Given the description of an element on the screen output the (x, y) to click on. 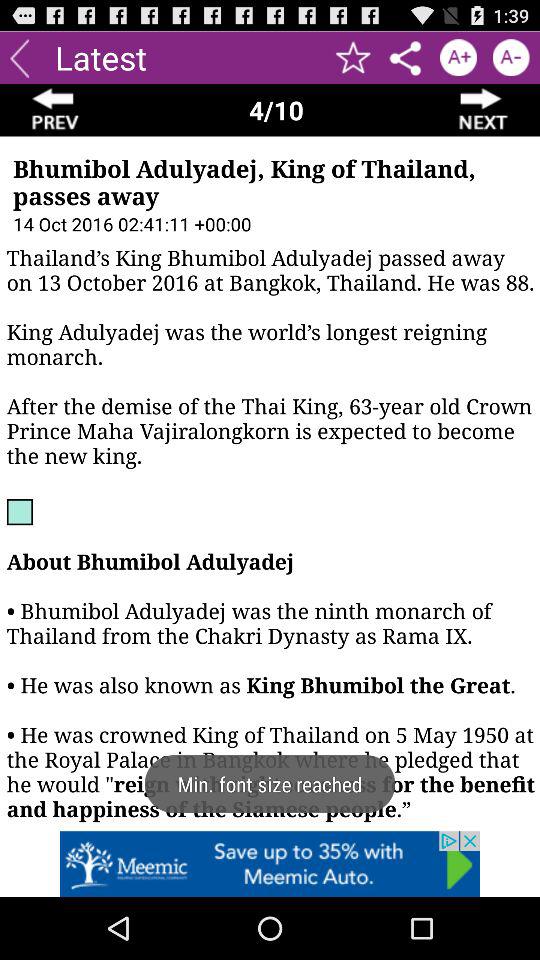
toggle favorite (353, 57)
